Given the description of an element on the screen output the (x, y) to click on. 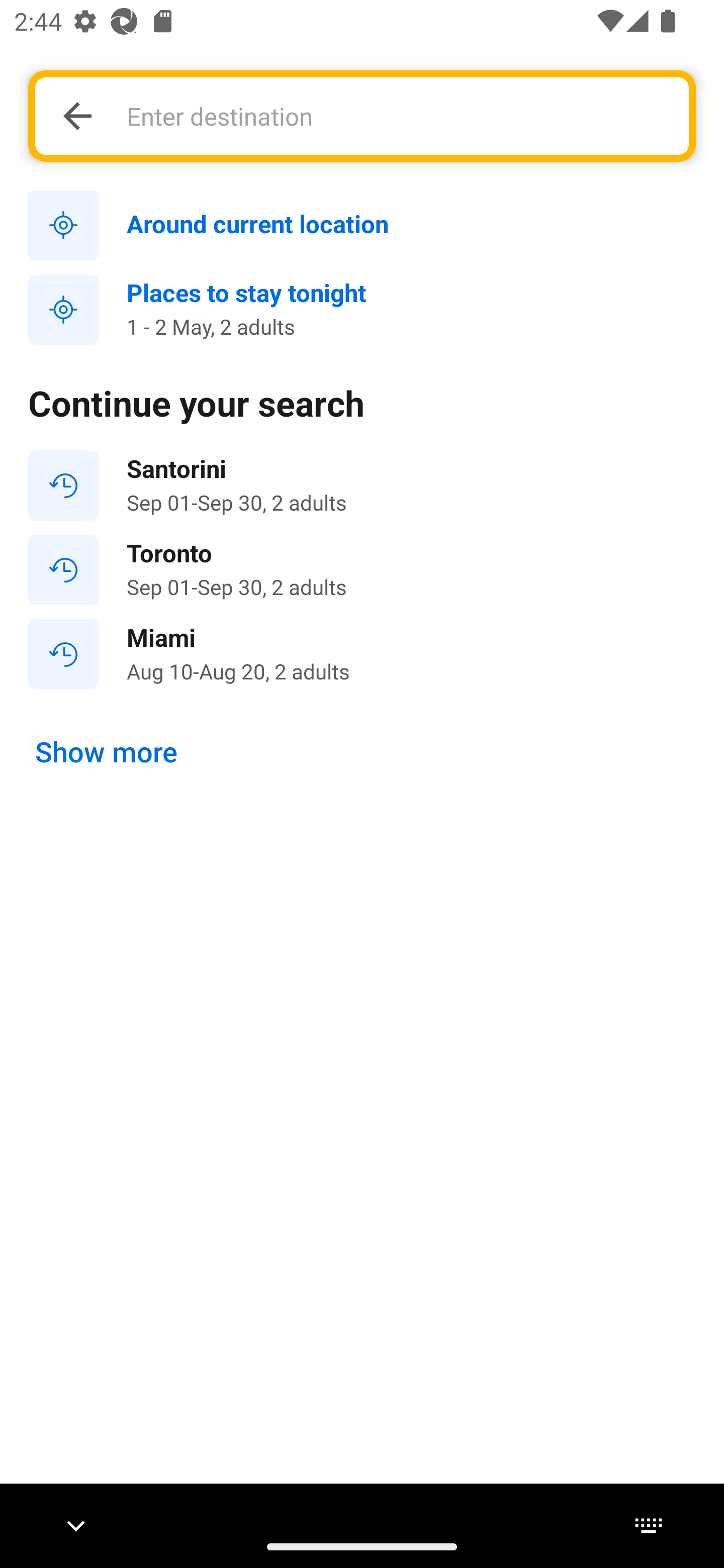
Enter destination (396, 115)
Around current location (362, 225)
Places to stay tonight 1 - 2 May, 2 adults (362, 309)
Santorini Sep 01-Sep 30, 2 adults  (362, 485)
Toronto Sep 01-Sep 30, 2 adults  (362, 569)
Miami Aug 10-Aug 20, 2 adults  (362, 653)
Show more (106, 752)
